Given the description of an element on the screen output the (x, y) to click on. 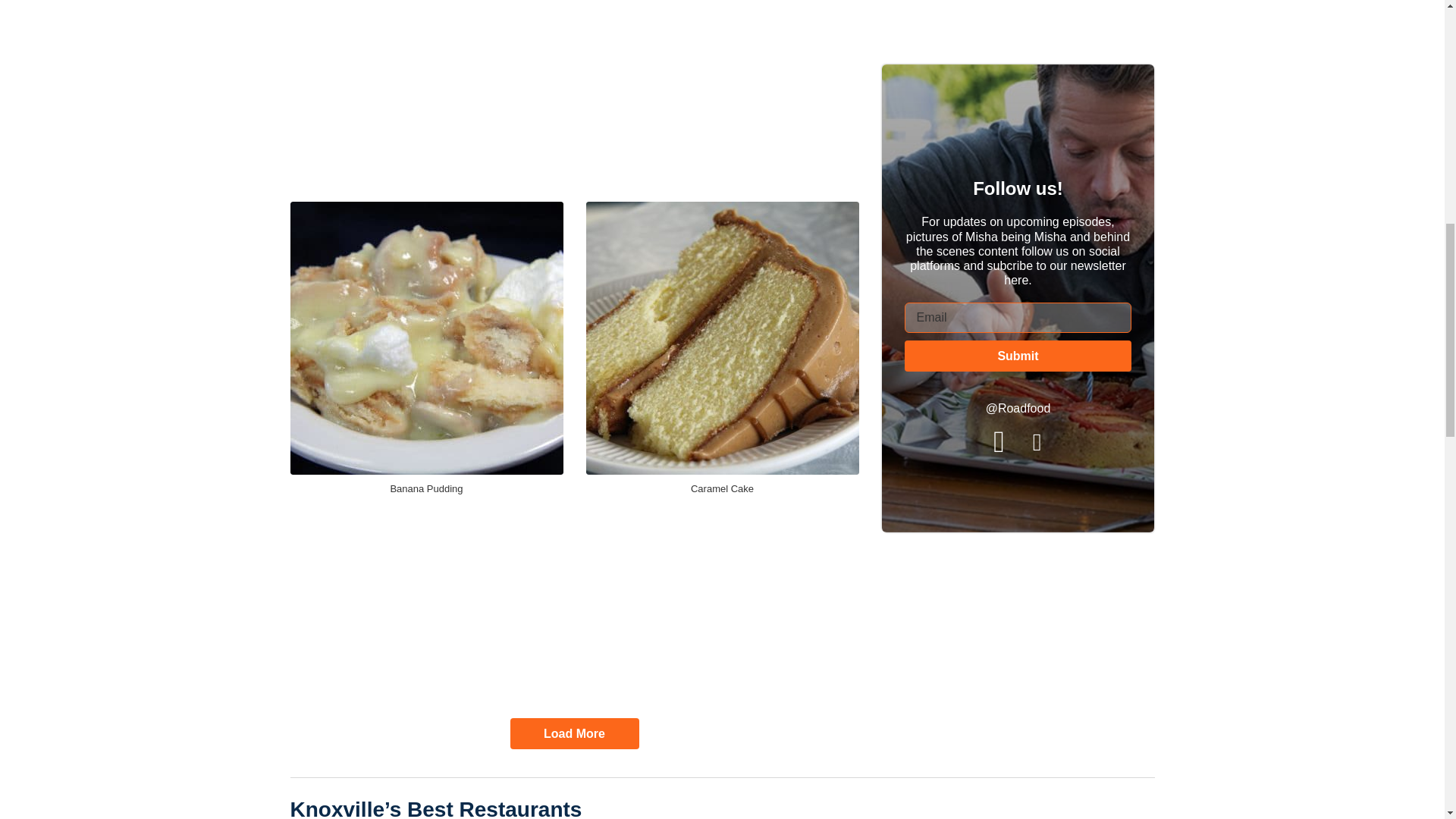
Load More (574, 733)
Submit (1017, 355)
Submit (1017, 355)
